Given the description of an element on the screen output the (x, y) to click on. 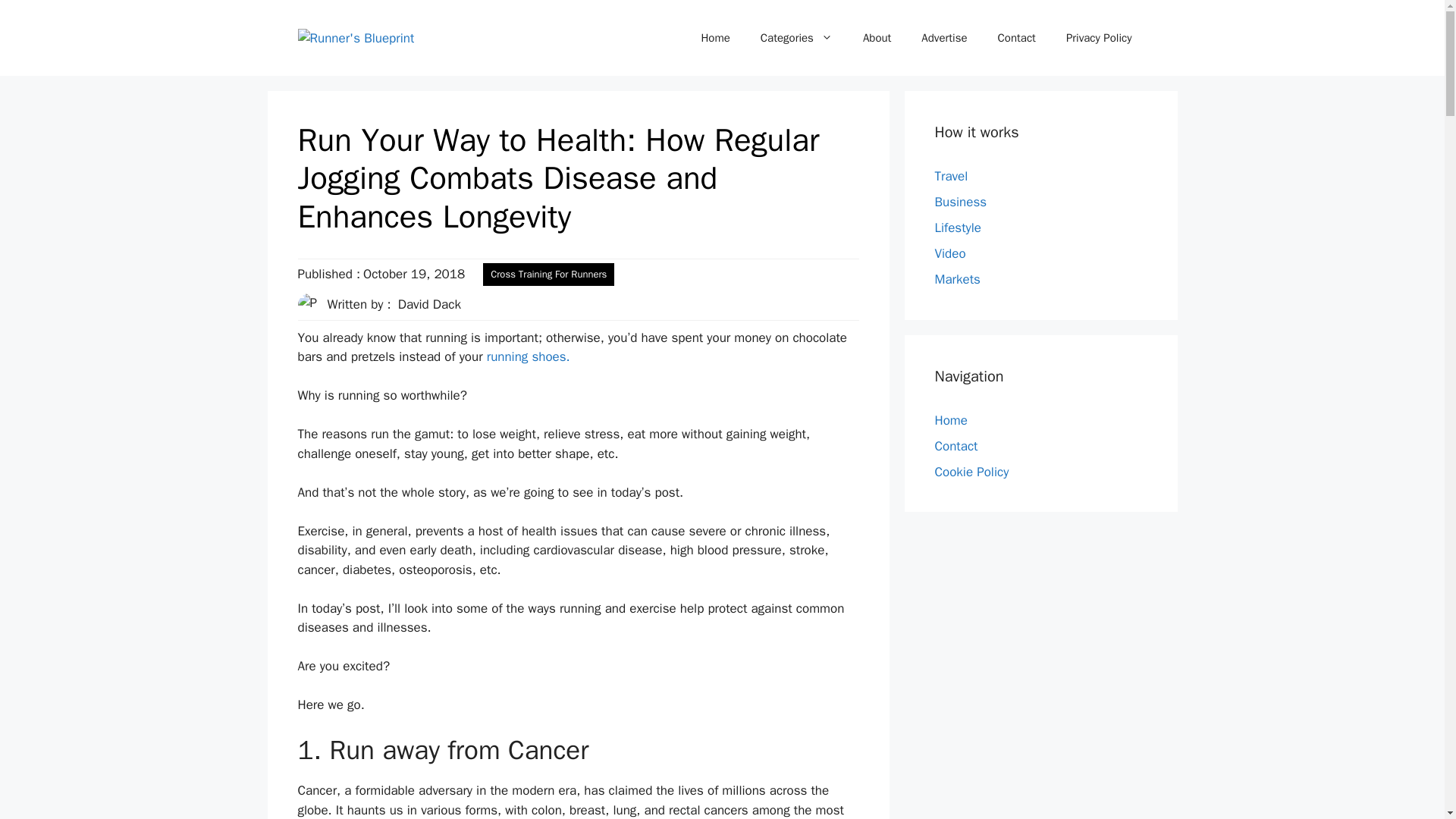
Categories (796, 37)
About (876, 37)
Cross Training For Runners (548, 273)
running shoes. (528, 356)
Privacy Policy (1099, 37)
Contact (1016, 37)
Home (714, 37)
Advertise (943, 37)
